Given the description of an element on the screen output the (x, y) to click on. 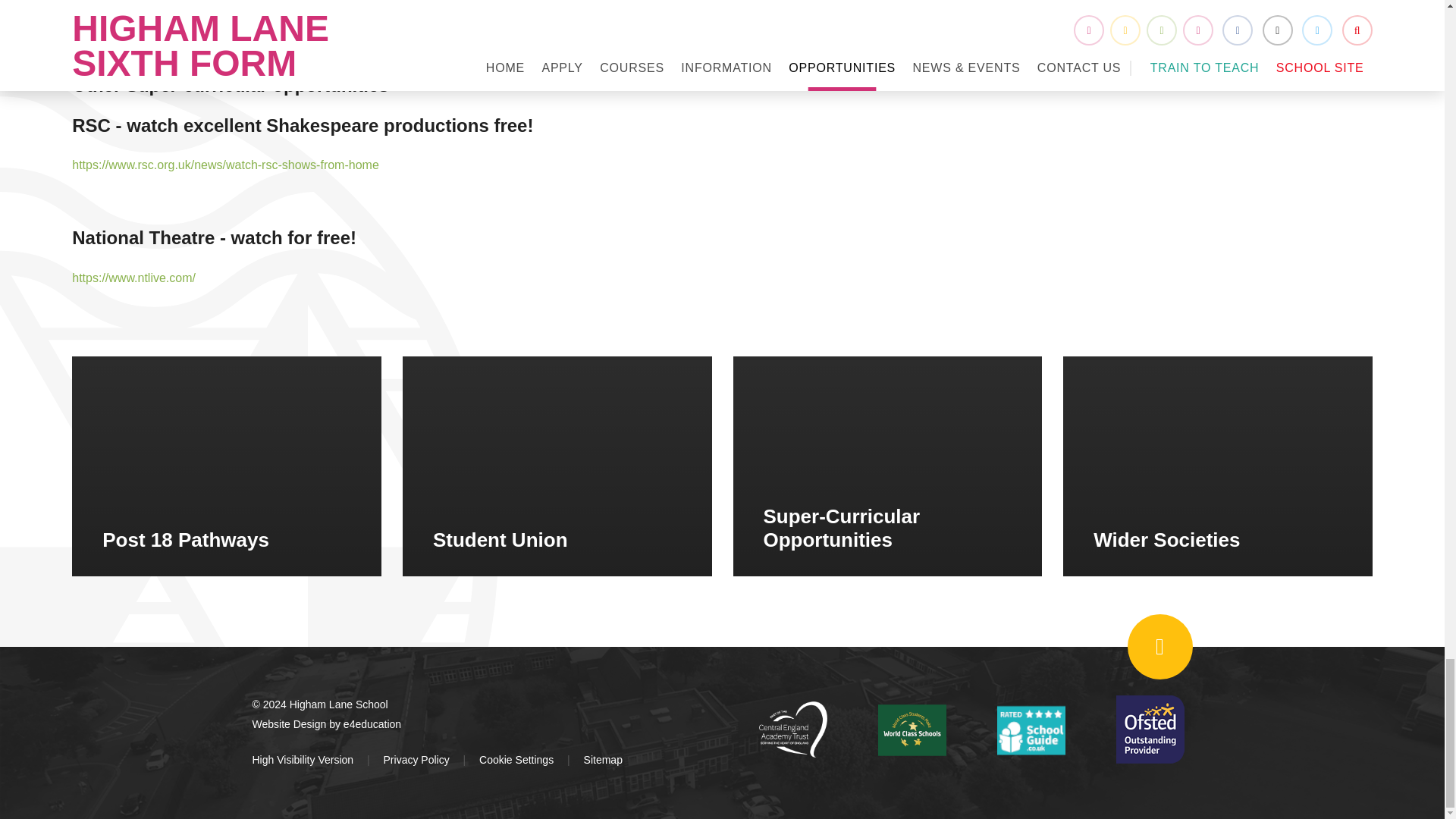
Ofsted (911, 729)
CEAT (792, 729)
Ofsted (1031, 729)
Ofsted (1150, 729)
Cookie Settings (516, 759)
